Given the description of an element on the screen output the (x, y) to click on. 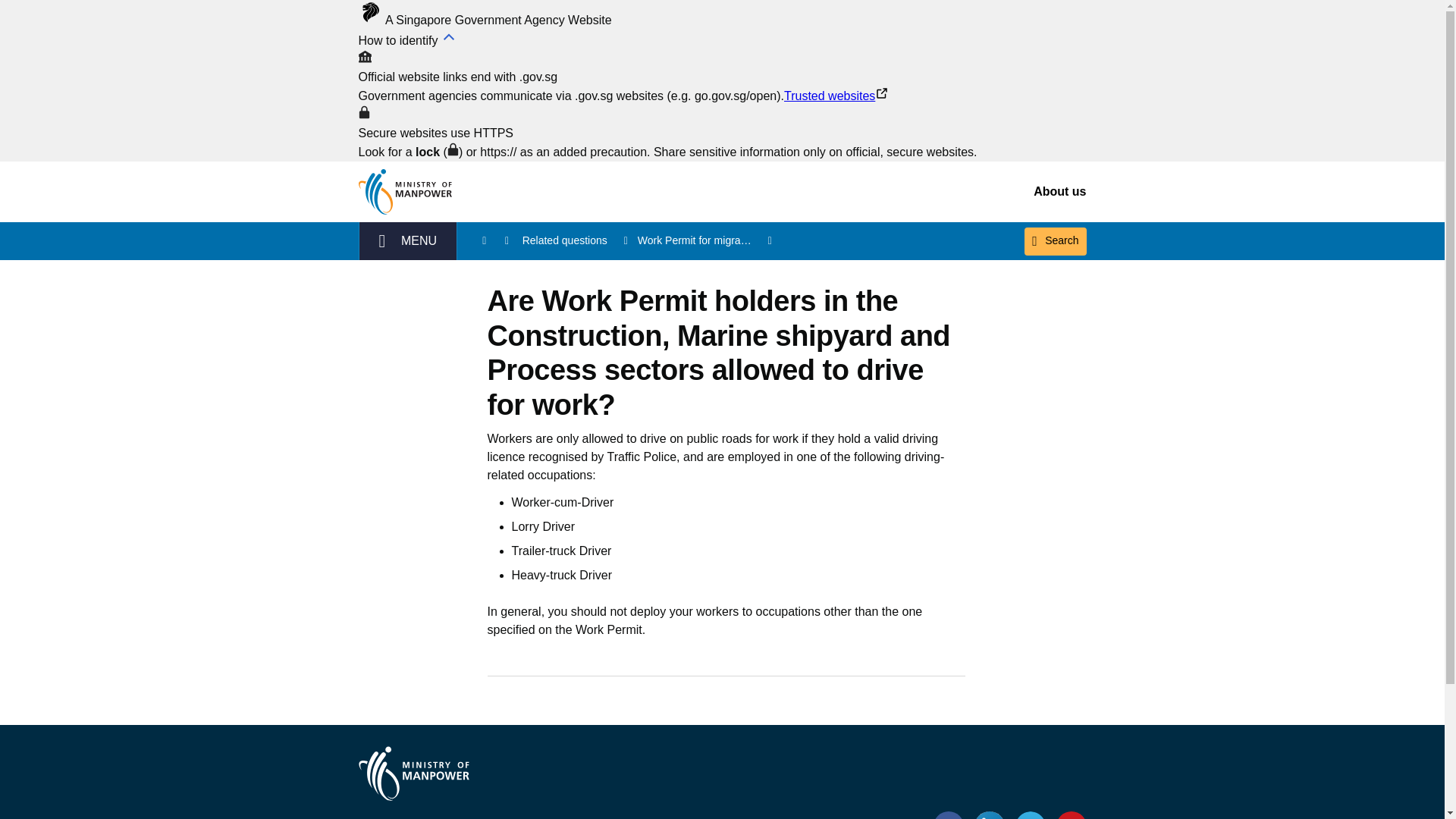
Ministry of Manpower (413, 773)
Ministry of Manpower youtube channel (1070, 814)
Careers (626, 818)
Related questions (576, 240)
About us (1059, 191)
Work Permit for migrant worker (705, 240)
Ministry of Manpower Telegram (1029, 814)
Feedback (745, 818)
Find us on Telegram (1029, 814)
Ministry of Manpower (407, 191)
